Given the description of an element on the screen output the (x, y) to click on. 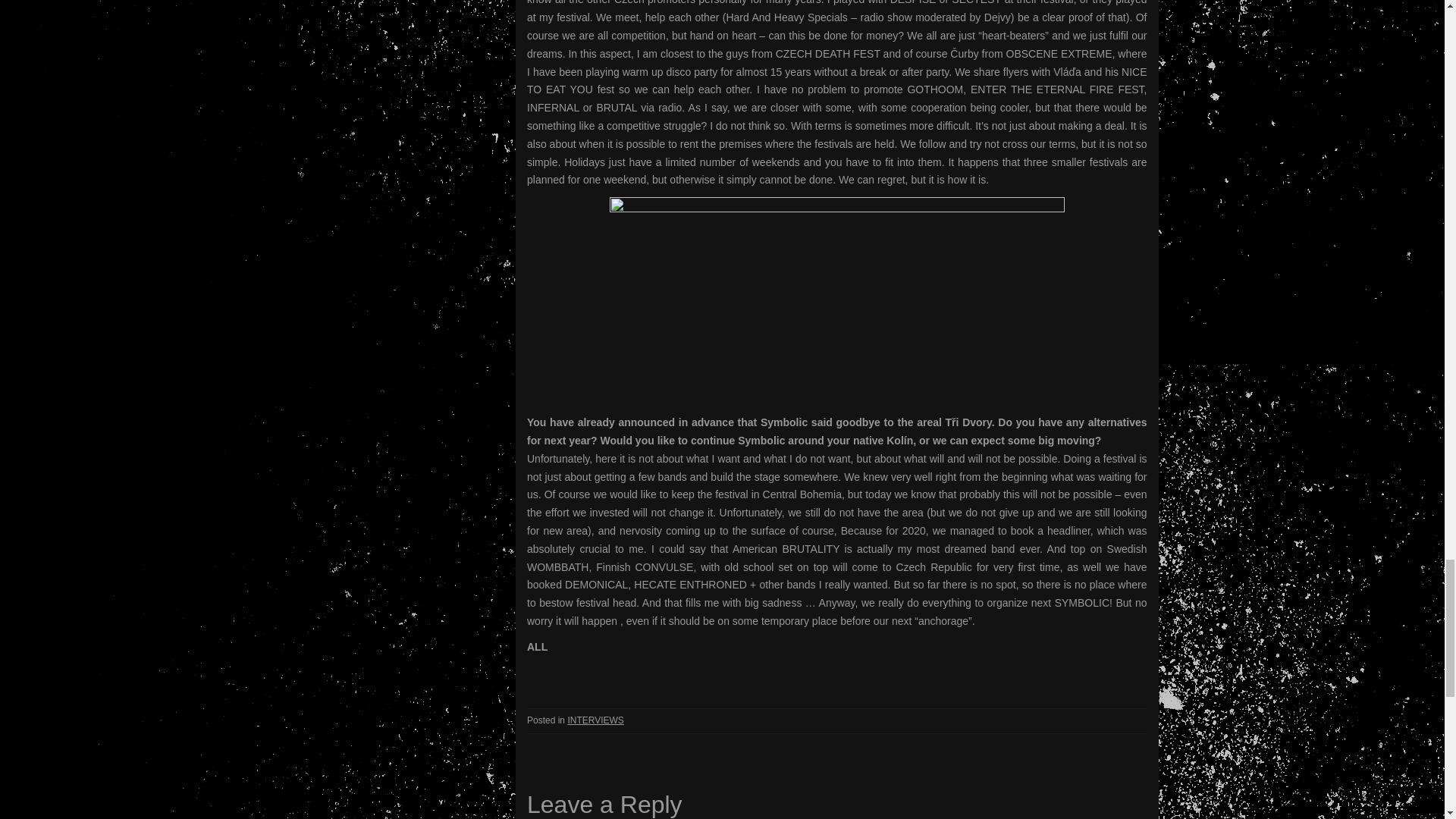
INTERVIEWS (595, 719)
